Given the description of an element on the screen output the (x, y) to click on. 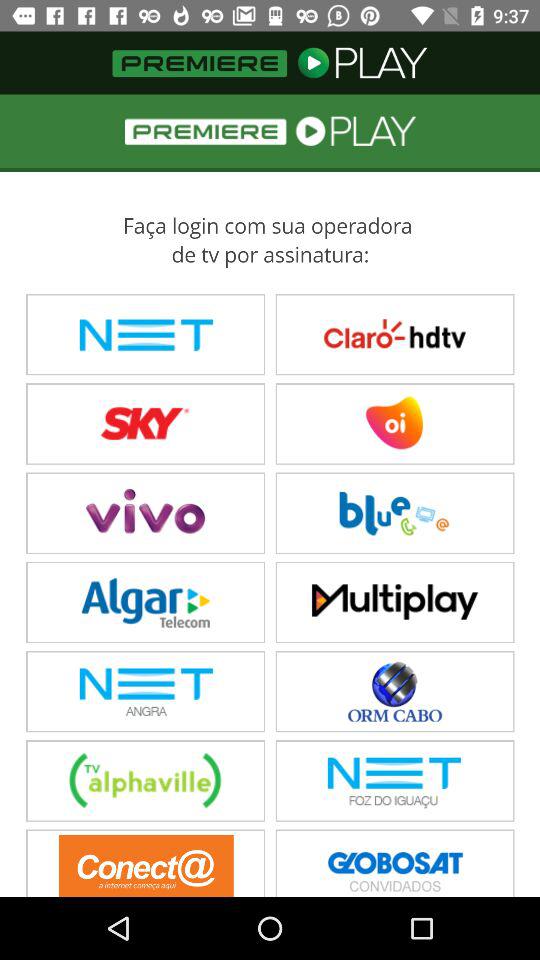
select premiere play (270, 495)
